Given the description of an element on the screen output the (x, y) to click on. 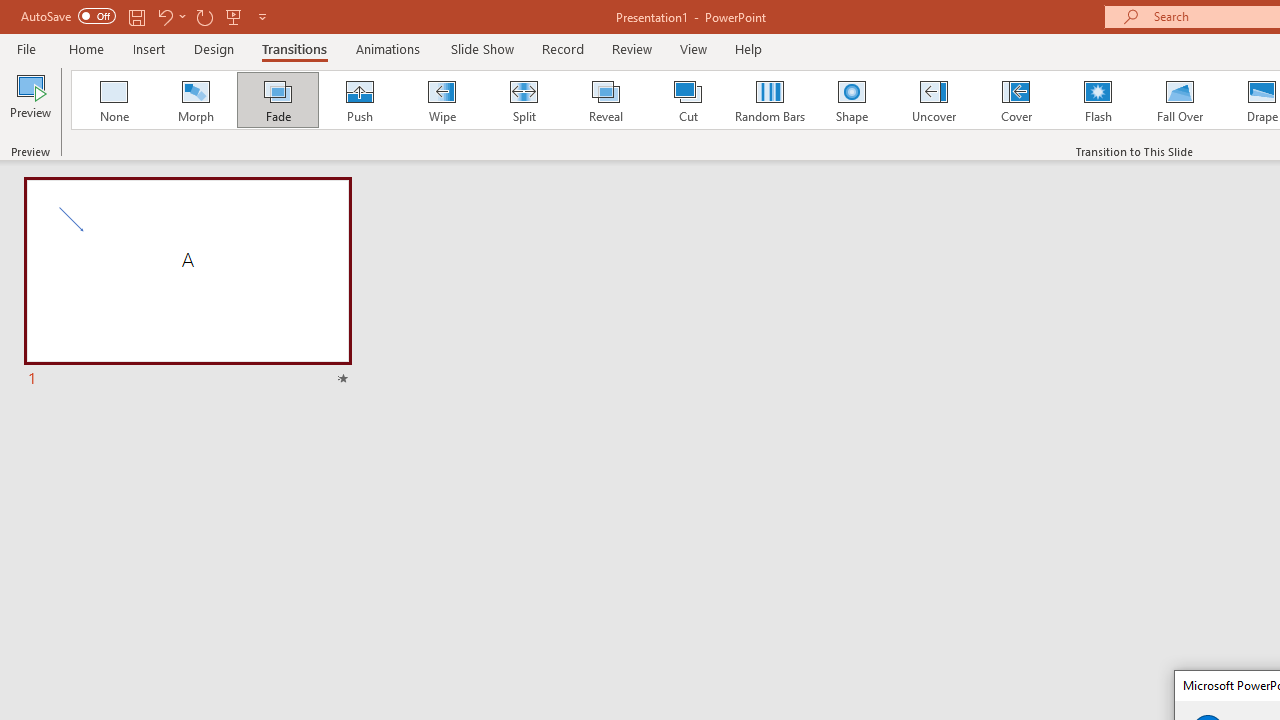
Morph (195, 100)
Slide A (187, 284)
